Given the description of an element on the screen output the (x, y) to click on. 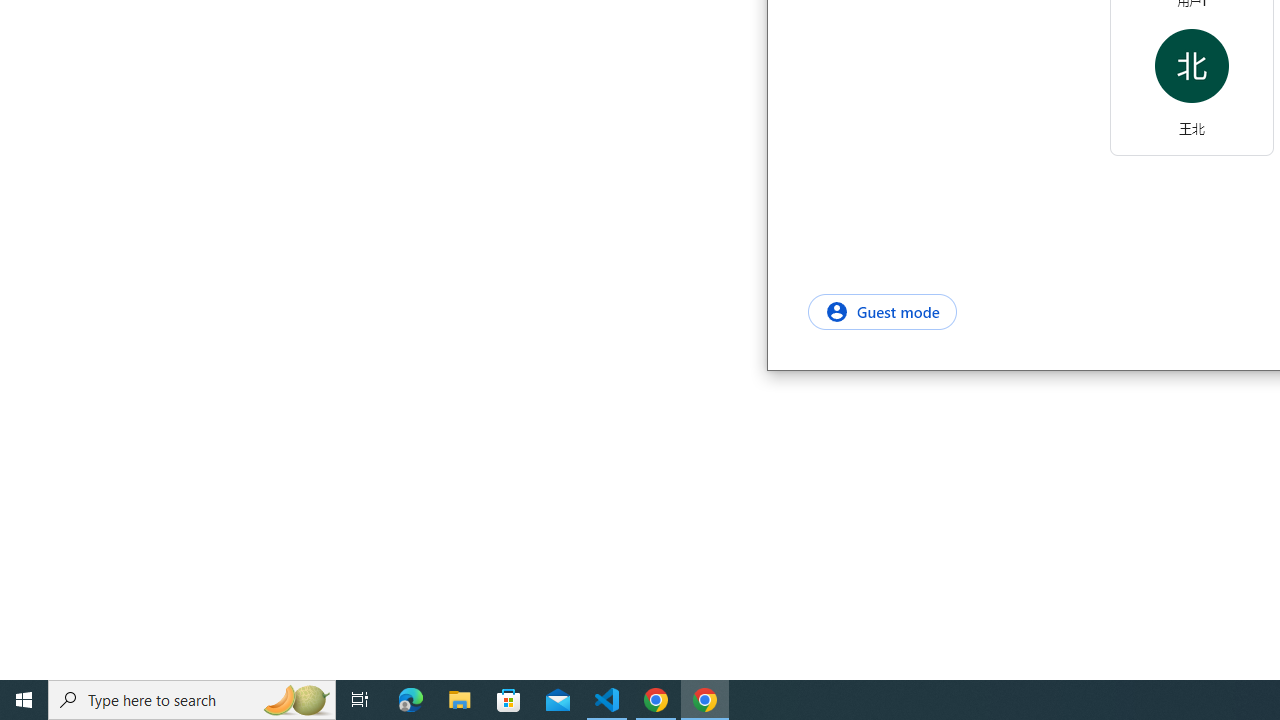
Microsoft Store (509, 699)
Start (24, 699)
Search highlights icon opens search home window (295, 699)
Google Chrome - 1 running window (704, 699)
Task View (359, 699)
Guest mode (882, 311)
Type here to search (191, 699)
Visual Studio Code - 1 running window (607, 699)
File Explorer (460, 699)
Microsoft Edge (411, 699)
